Given the description of an element on the screen output the (x, y) to click on. 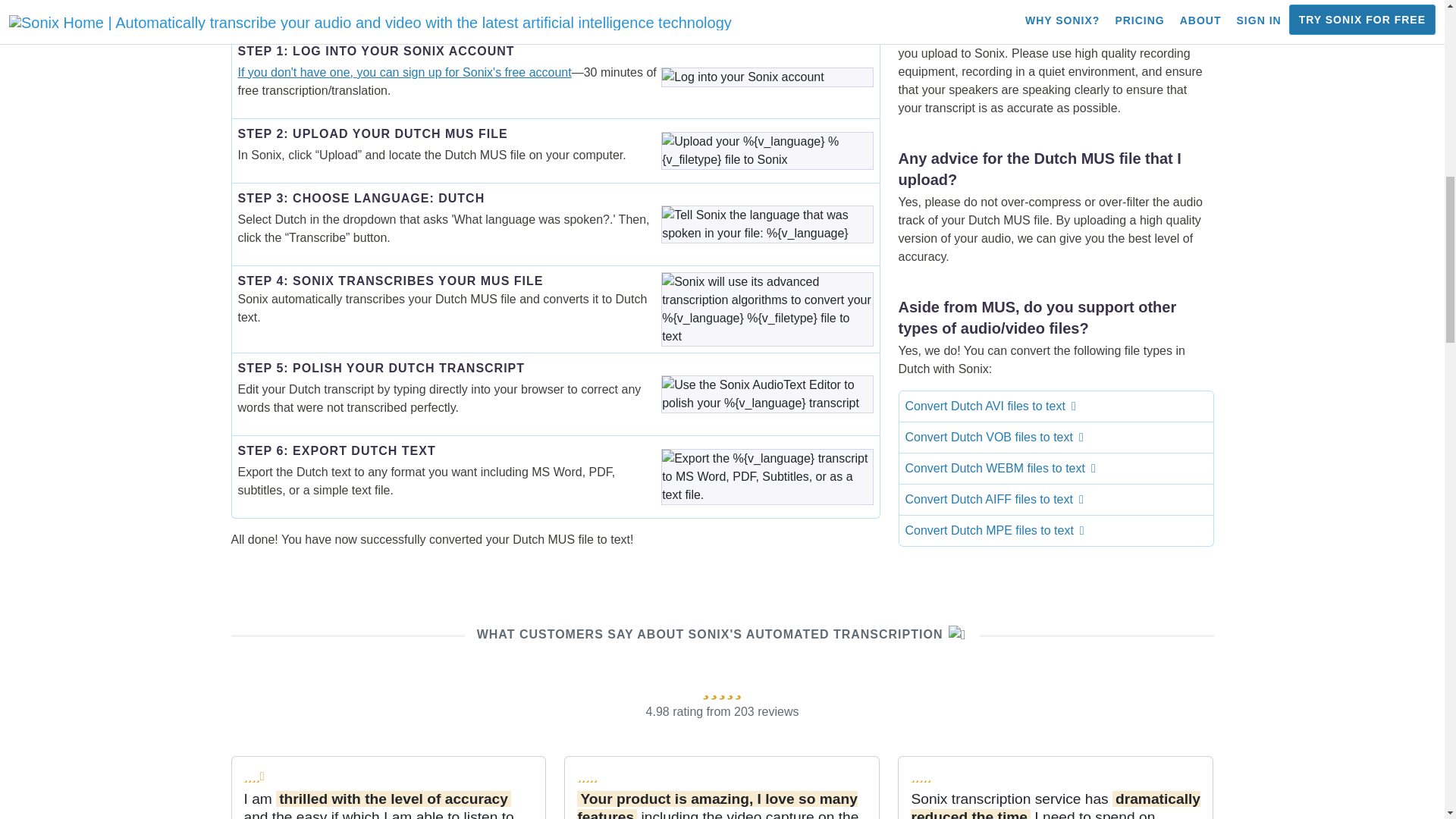
Convert Dutch WEBM files to text (1056, 468)
Convert Dutch AIFF files to text (1056, 499)
Convert Dutch AVI files to text (1056, 406)
Convert Dutch VOB files to text (1056, 437)
Convert Dutch MPE files to text (1056, 530)
